Given the description of an element on the screen output the (x, y) to click on. 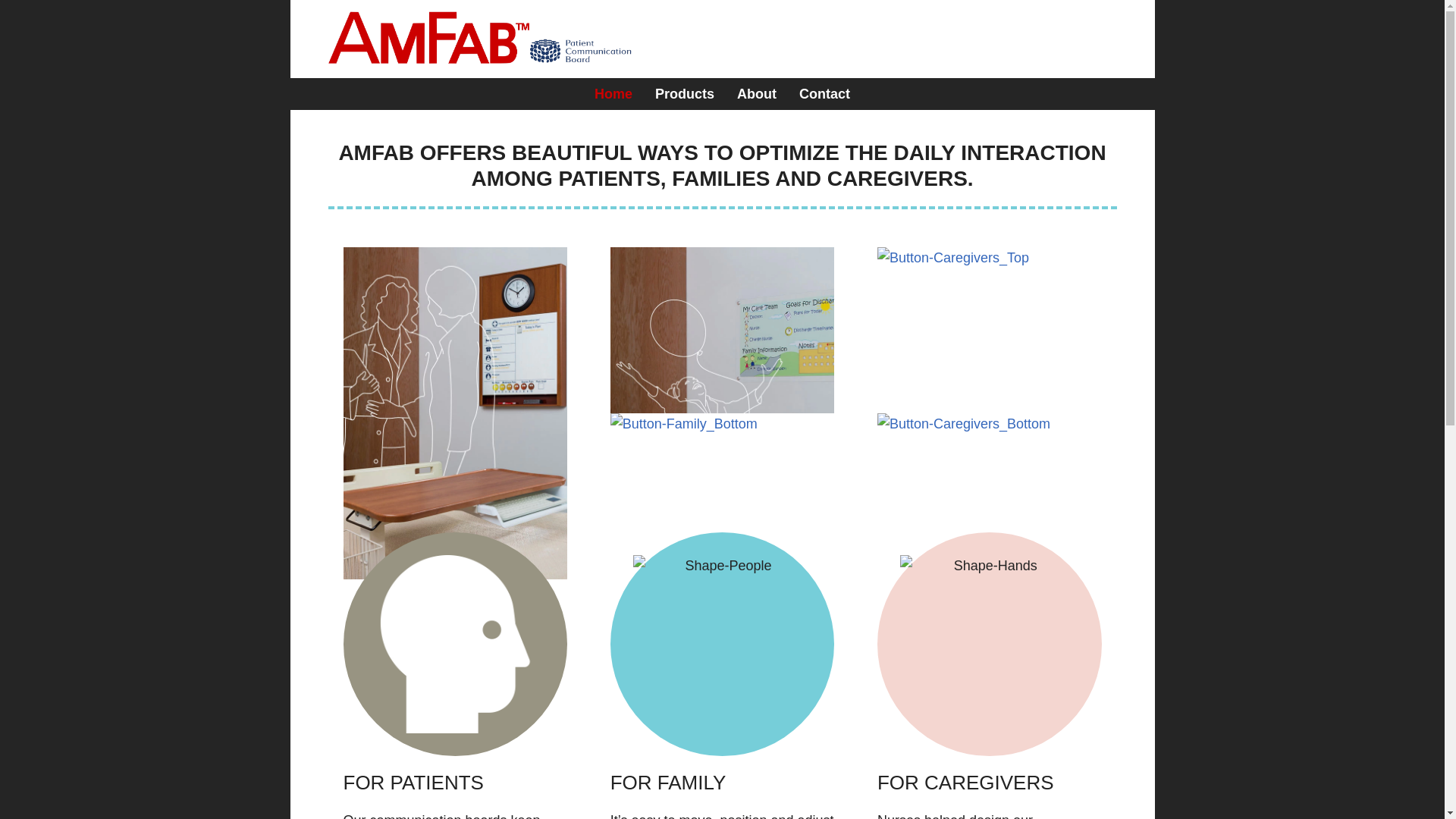
Shape-People (722, 644)
Products (684, 93)
About (756, 93)
Shape-Hands (988, 644)
Home (613, 93)
Contact (824, 93)
Shape-Head (454, 644)
